Given the description of an element on the screen output the (x, y) to click on. 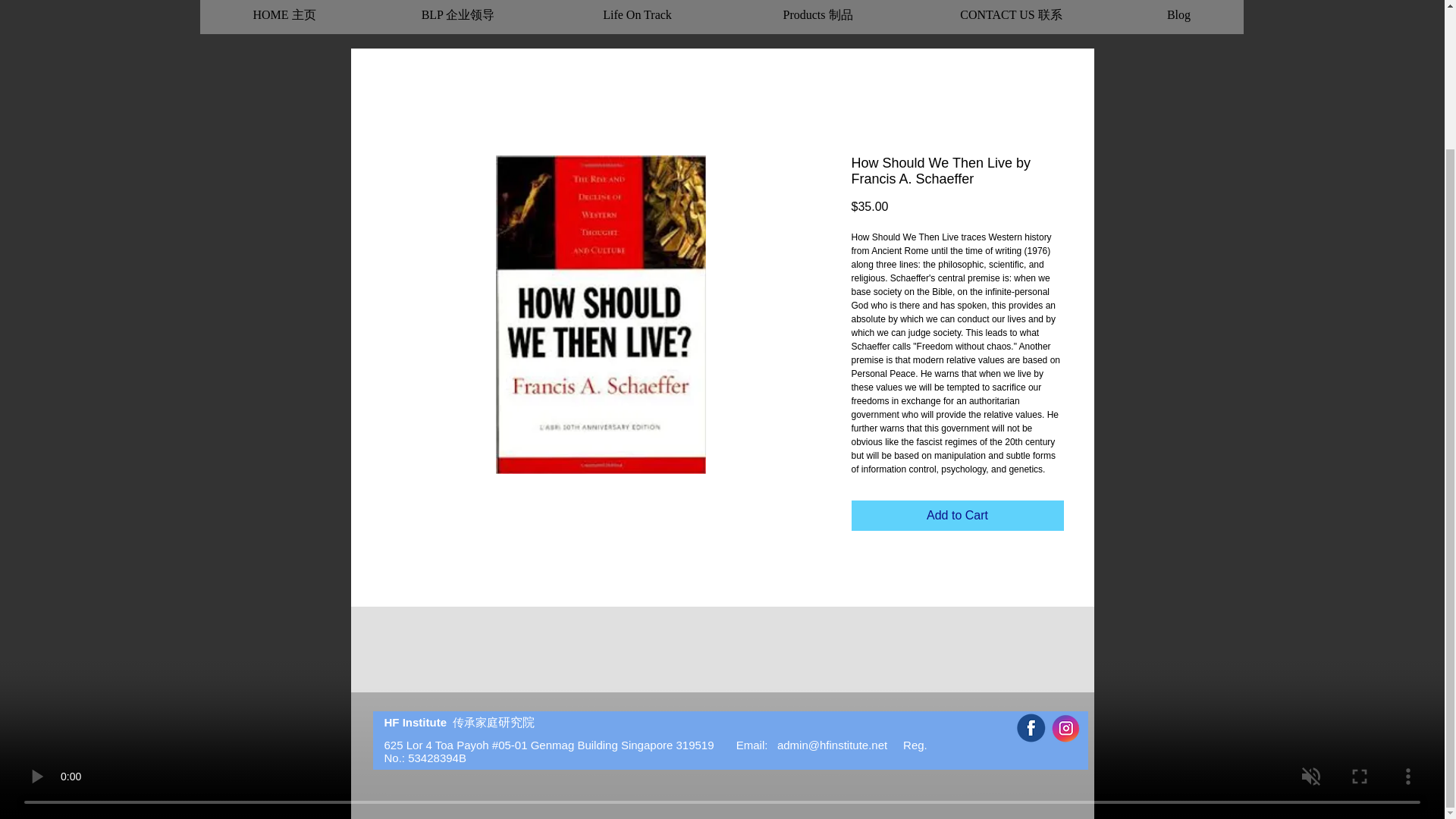
Blog (1179, 11)
Life On Track (637, 11)
Add to Cart (956, 515)
